Given the description of an element on the screen output the (x, y) to click on. 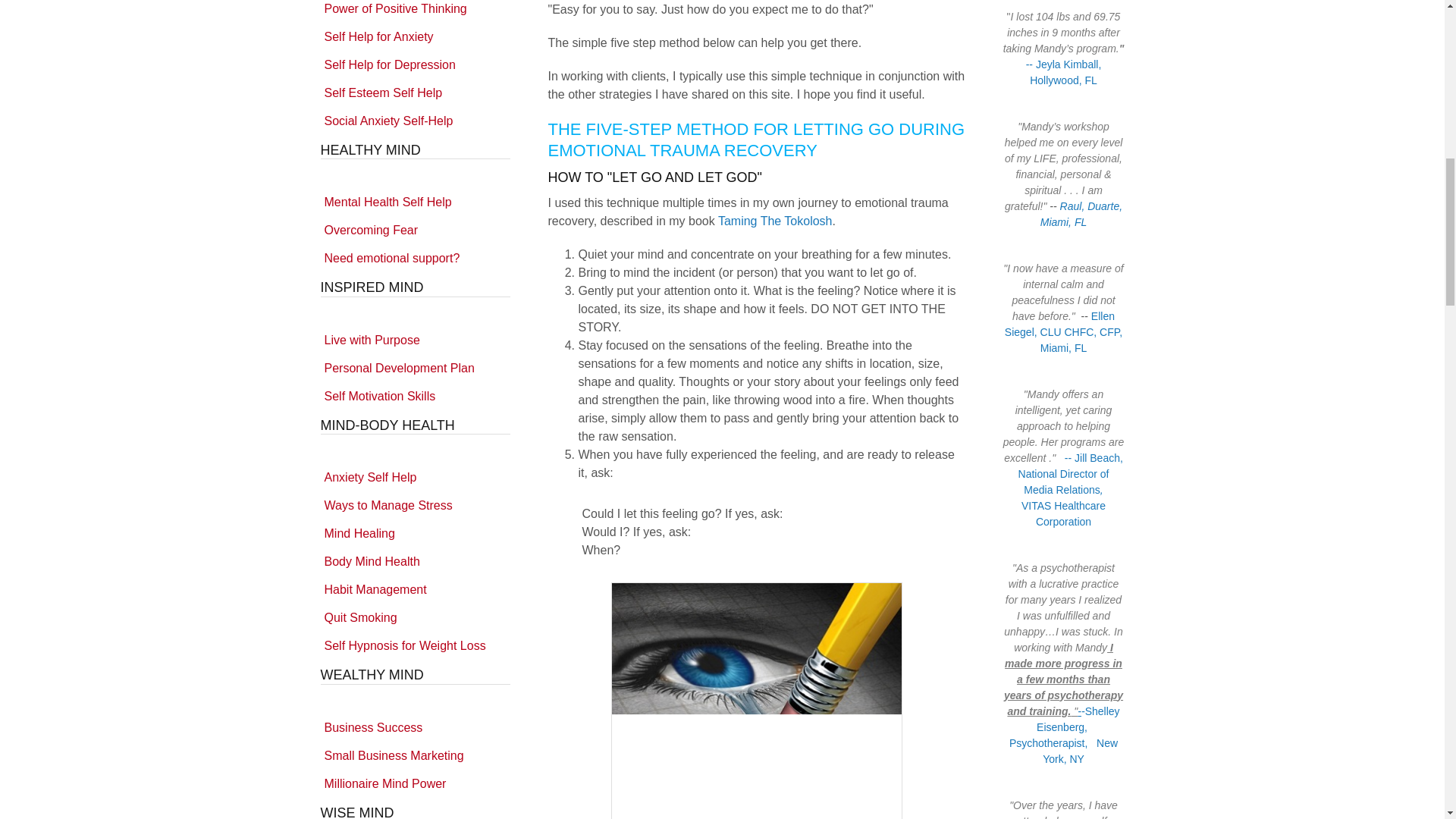
Overcoming Fear (414, 230)
Self Motivation Skills (414, 396)
Self Esteem Self Help (414, 93)
Self Help for Depression (414, 63)
Need emotional support? (414, 258)
Habit Management (414, 589)
Mental Health Self Help (414, 202)
Ways to Manage Stress (414, 505)
Social Anxiety Self-Help (414, 120)
Live with Purpose (414, 339)
